Given the description of an element on the screen output the (x, y) to click on. 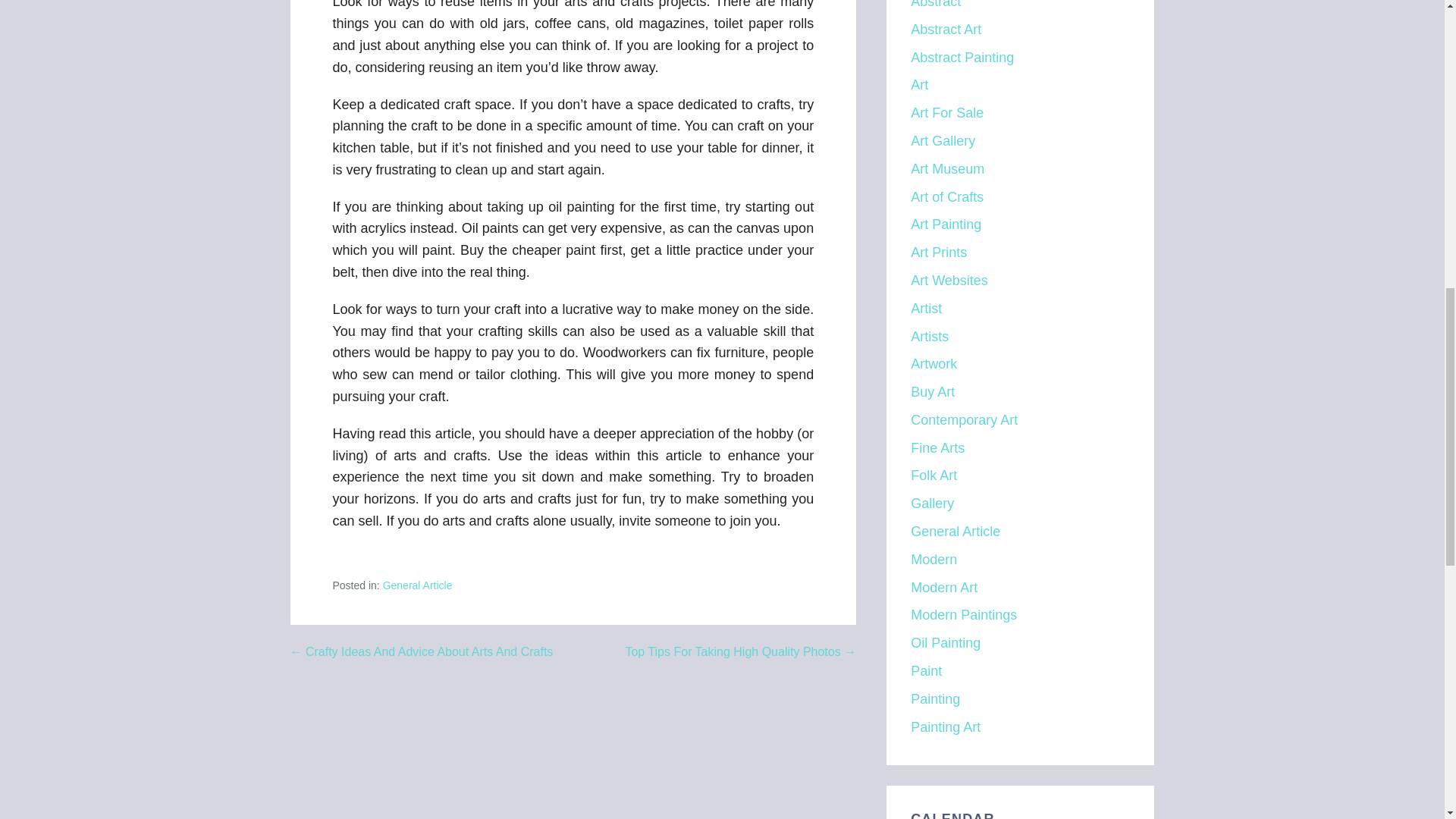
Abstract (935, 4)
Abstract Painting (962, 57)
General Article (417, 585)
Abstract Art (946, 29)
